Given the description of an element on the screen output the (x, y) to click on. 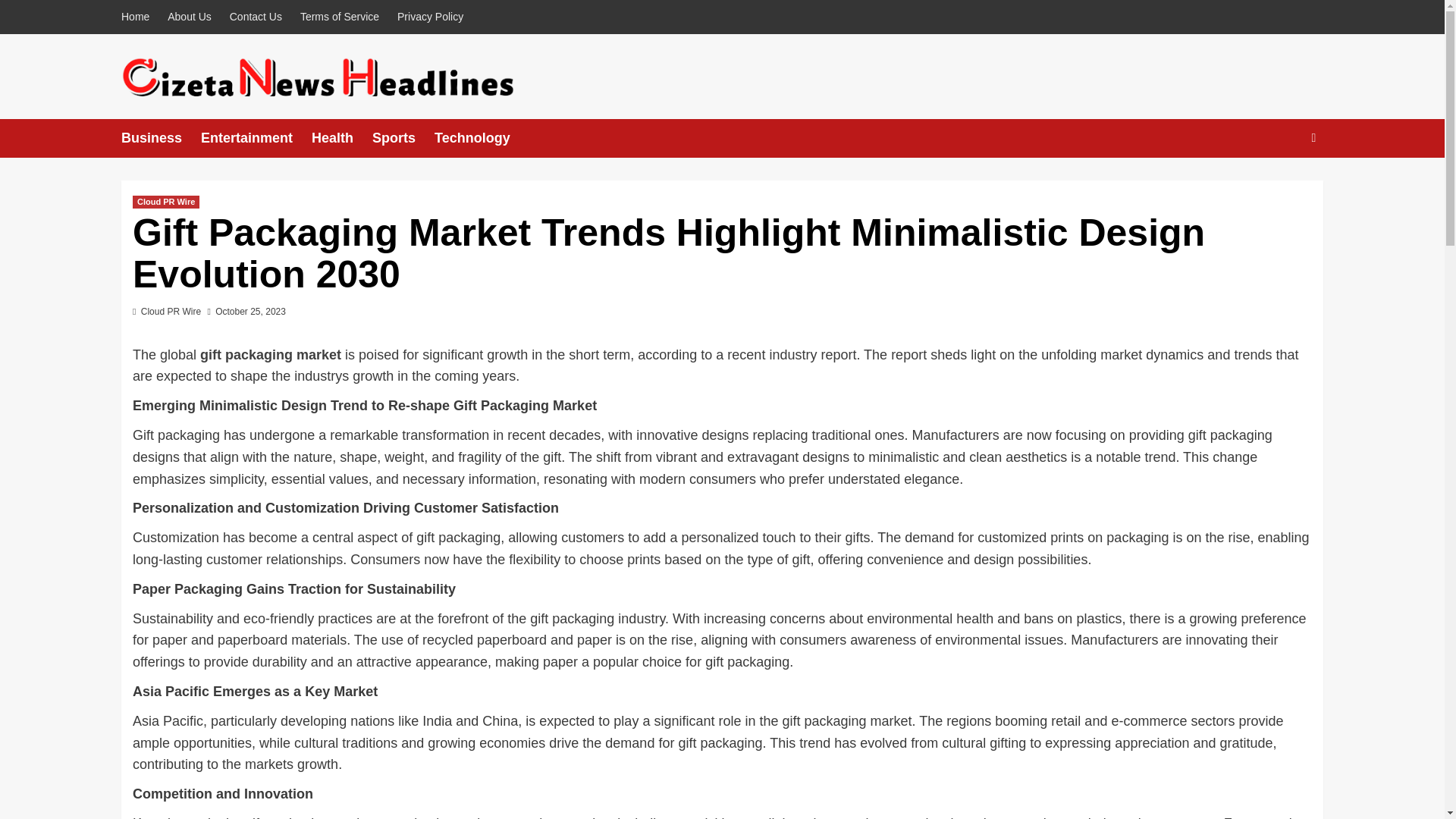
Privacy Policy (430, 17)
Health (341, 138)
Sports (402, 138)
Cloud PR Wire (170, 311)
October 25, 2023 (250, 311)
Technology (481, 138)
About Us (189, 17)
Terms of Service (339, 17)
Home (138, 17)
Contact Us (255, 17)
Entertainment (255, 138)
Search (1278, 184)
gift packaging market (270, 354)
Cloud PR Wire (165, 201)
Business (160, 138)
